Given the description of an element on the screen output the (x, y) to click on. 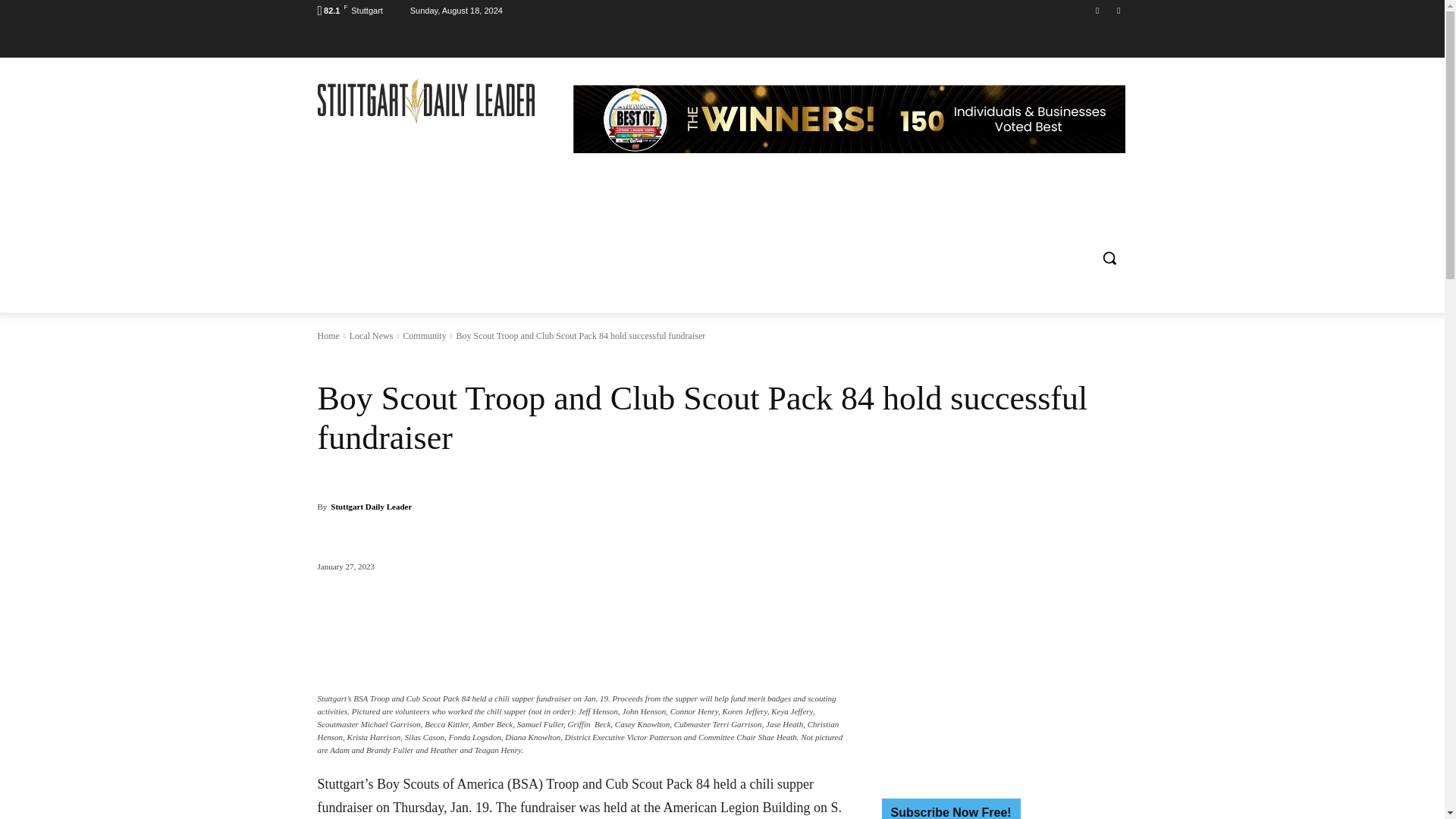
Twitter (1117, 9)
View all posts in Local News (371, 335)
View all posts in Community (424, 335)
Facebook (1097, 9)
